Given the description of an element on the screen output the (x, y) to click on. 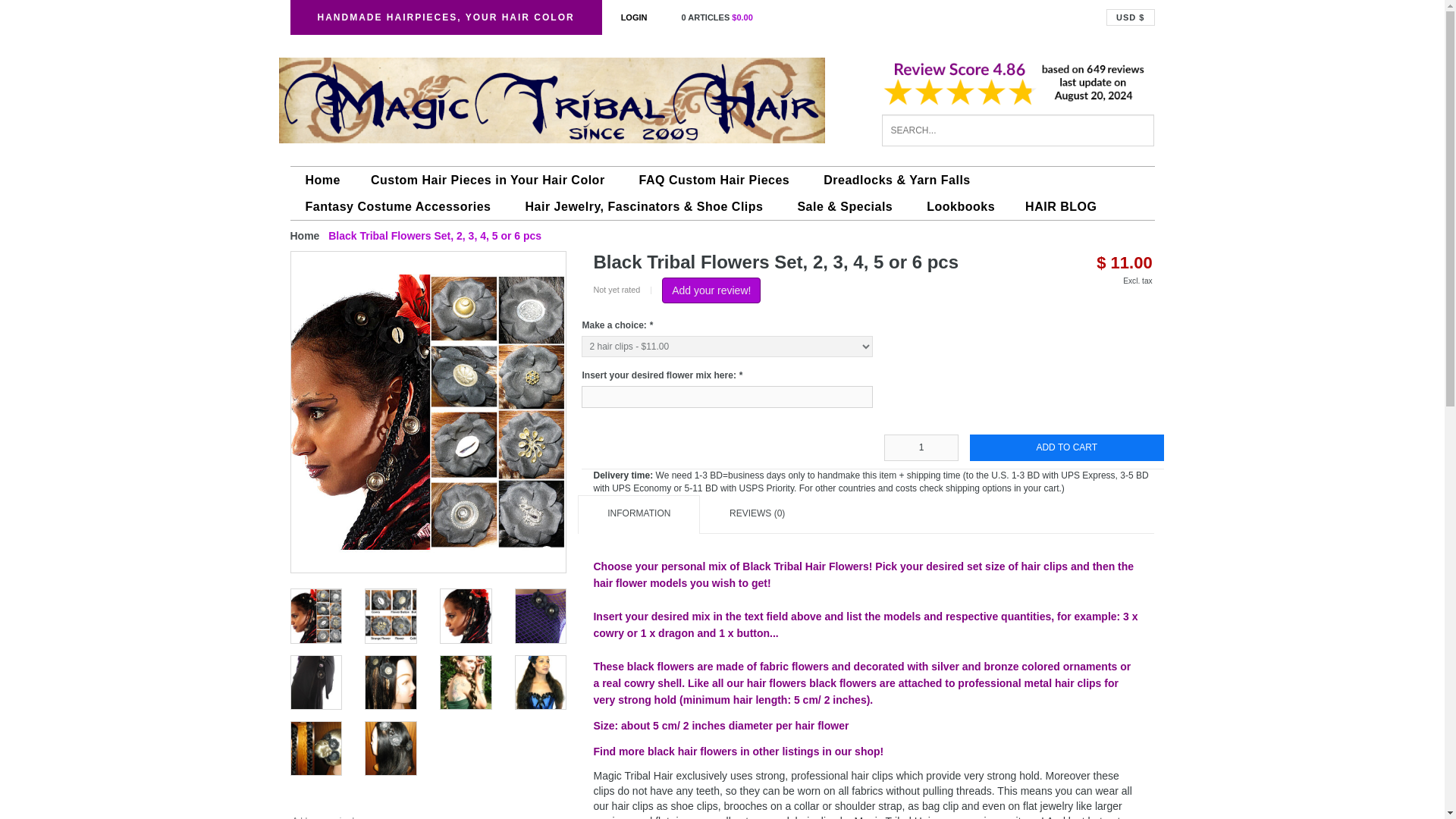
login (634, 17)
Custom Hair Pieces in Your Hair Color (489, 180)
Home (303, 235)
Home (322, 180)
LOGIN (634, 17)
login (710, 17)
1 (920, 447)
Fantasy Costume Accessories (399, 206)
HANDMADE HAIRPIECES, YOUR HAIR COLOR (445, 17)
FAQ Custom Hair Pieces (716, 180)
